Given the description of an element on the screen output the (x, y) to click on. 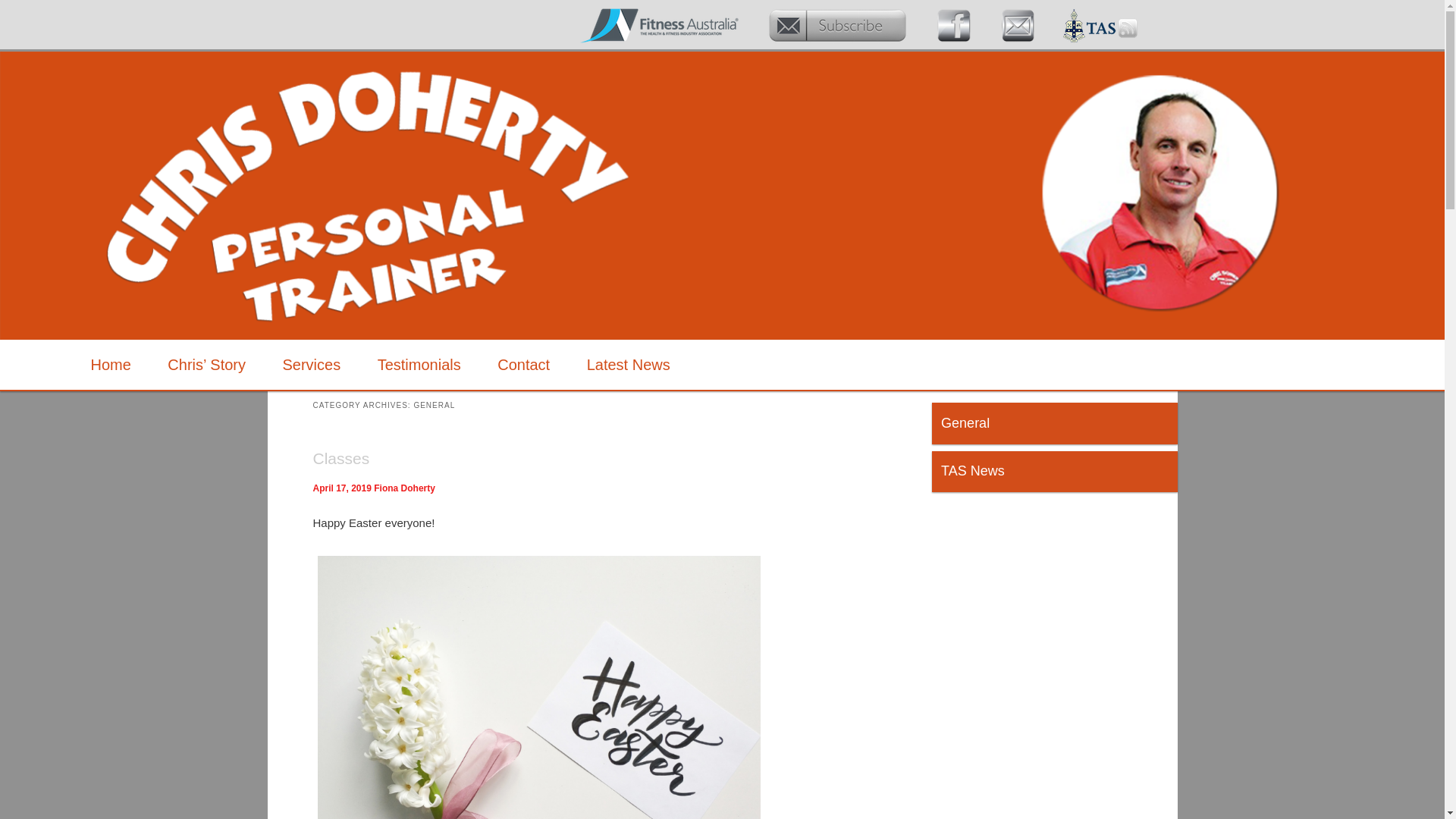
April 17, 2019 Element type: text (341, 488)
Testimonials Element type: text (418, 364)
Contact Element type: text (523, 364)
General Element type: text (965, 422)
Classes Element type: text (340, 458)
Fiona Doherty Element type: text (404, 488)
Services Element type: text (310, 364)
Skip to primary content Element type: text (14, 339)
Home Element type: text (110, 364)
Latest News Element type: text (627, 364)
TAS News Element type: text (972, 470)
Chris Doherty Personal Trainer Element type: text (277, 105)
